Given the description of an element on the screen output the (x, y) to click on. 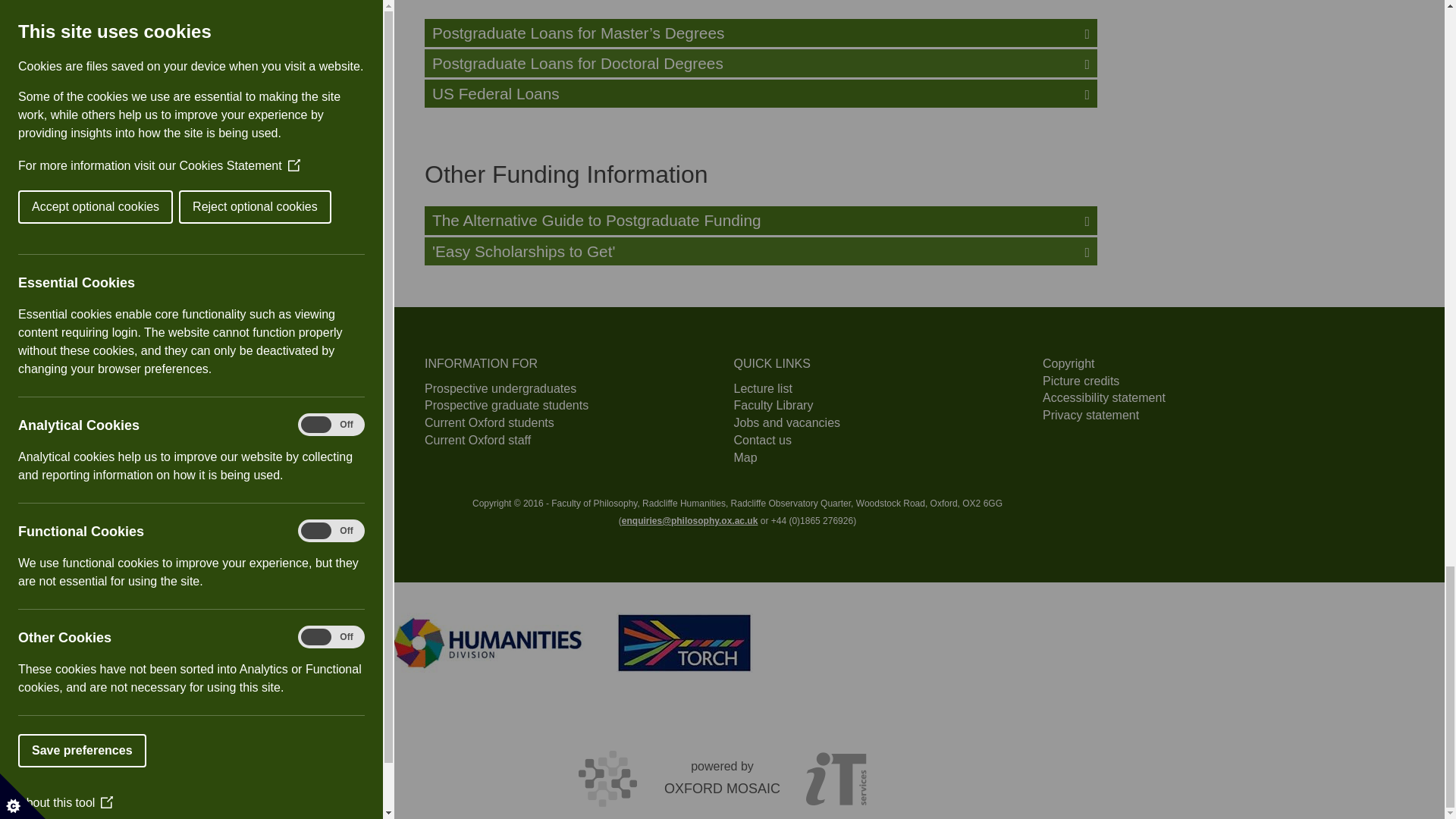
The Oxford Research Centre in the Humanities (683, 642)
